Given the description of an element on the screen output the (x, y) to click on. 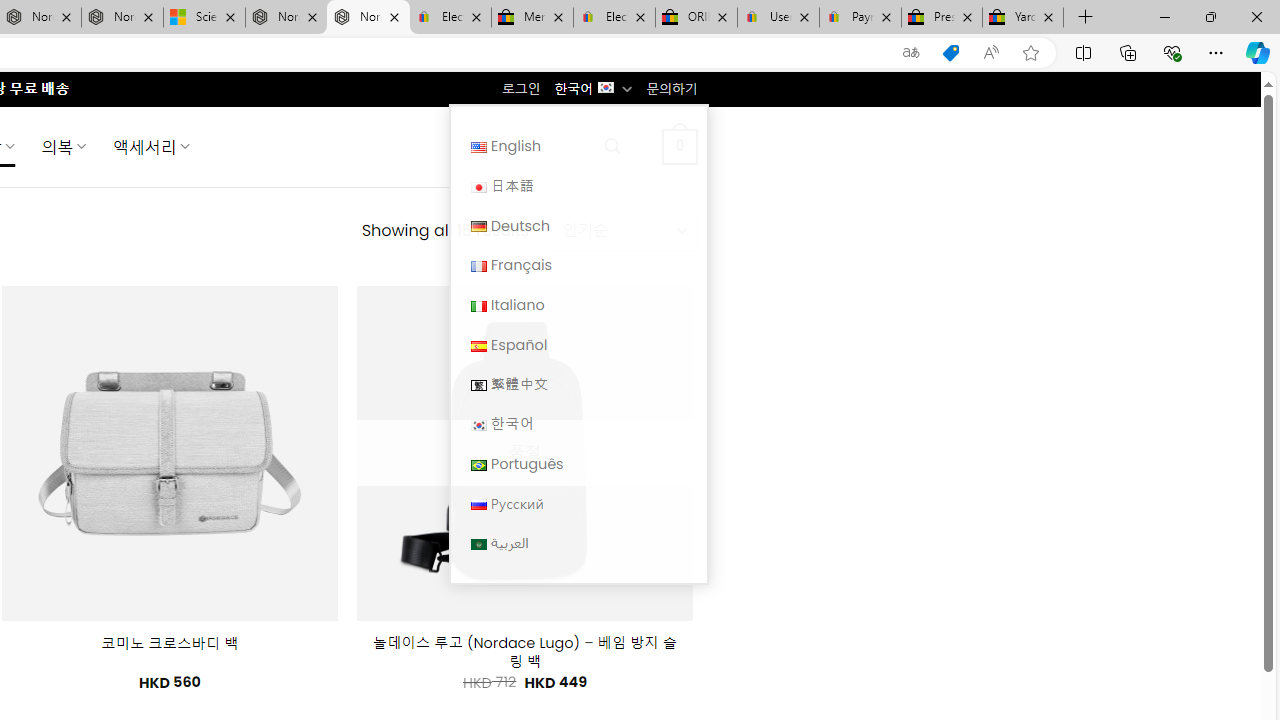
  0   (679, 146)
Deutsch (478, 227)
Deutsch Deutsch (578, 225)
